Given the description of an element on the screen output the (x, y) to click on. 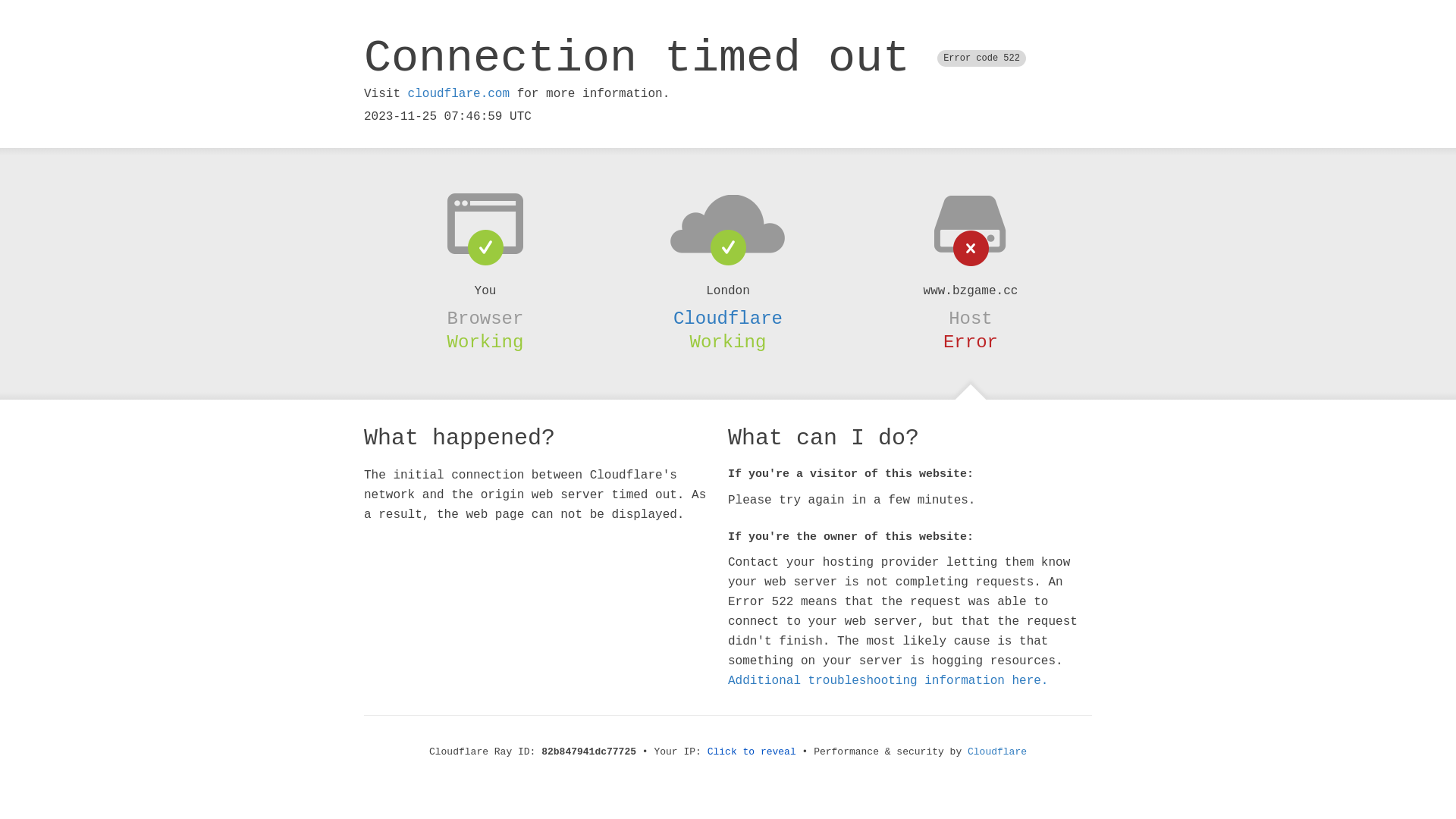
Cloudflare Element type: text (727, 318)
Cloudflare Element type: text (996, 751)
Additional troubleshooting information here. Element type: text (888, 680)
cloudflare.com Element type: text (458, 93)
Click to reveal Element type: text (751, 751)
